Given the description of an element on the screen output the (x, y) to click on. 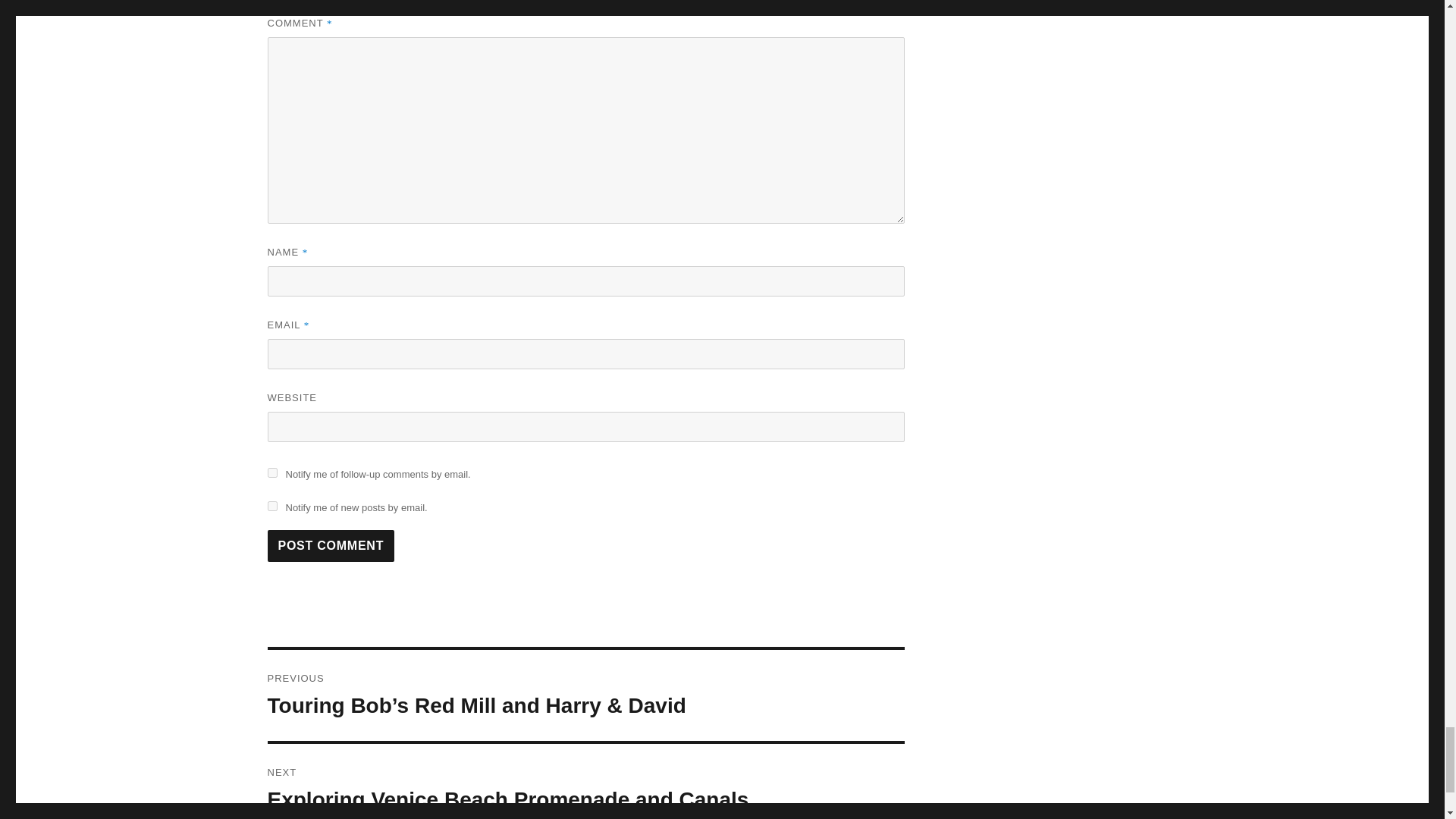
Post Comment (330, 545)
subscribe (271, 472)
Post Comment (330, 545)
subscribe (585, 781)
